Given the description of an element on the screen output the (x, y) to click on. 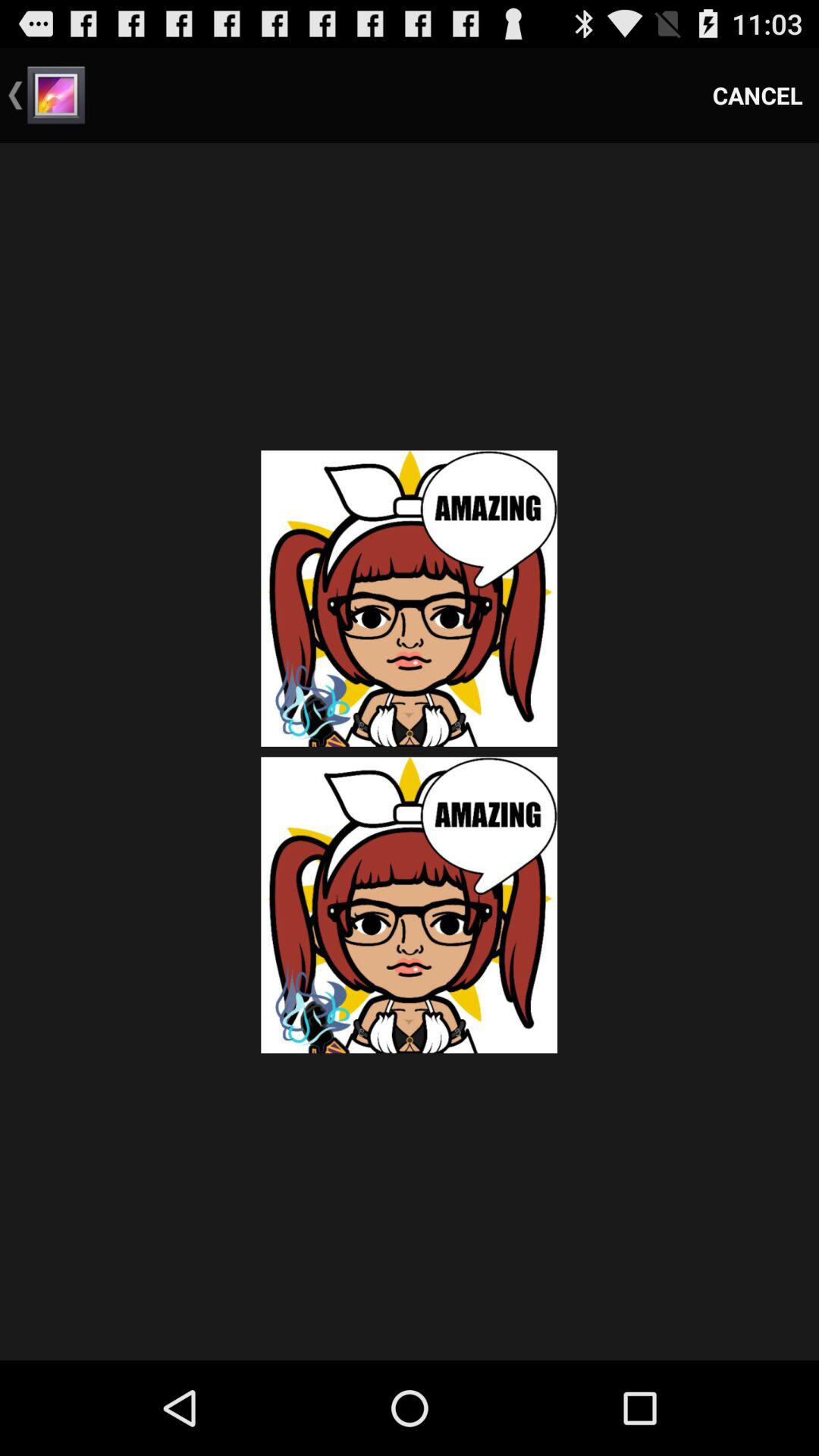
choose cancel (757, 95)
